Given the description of an element on the screen output the (x, y) to click on. 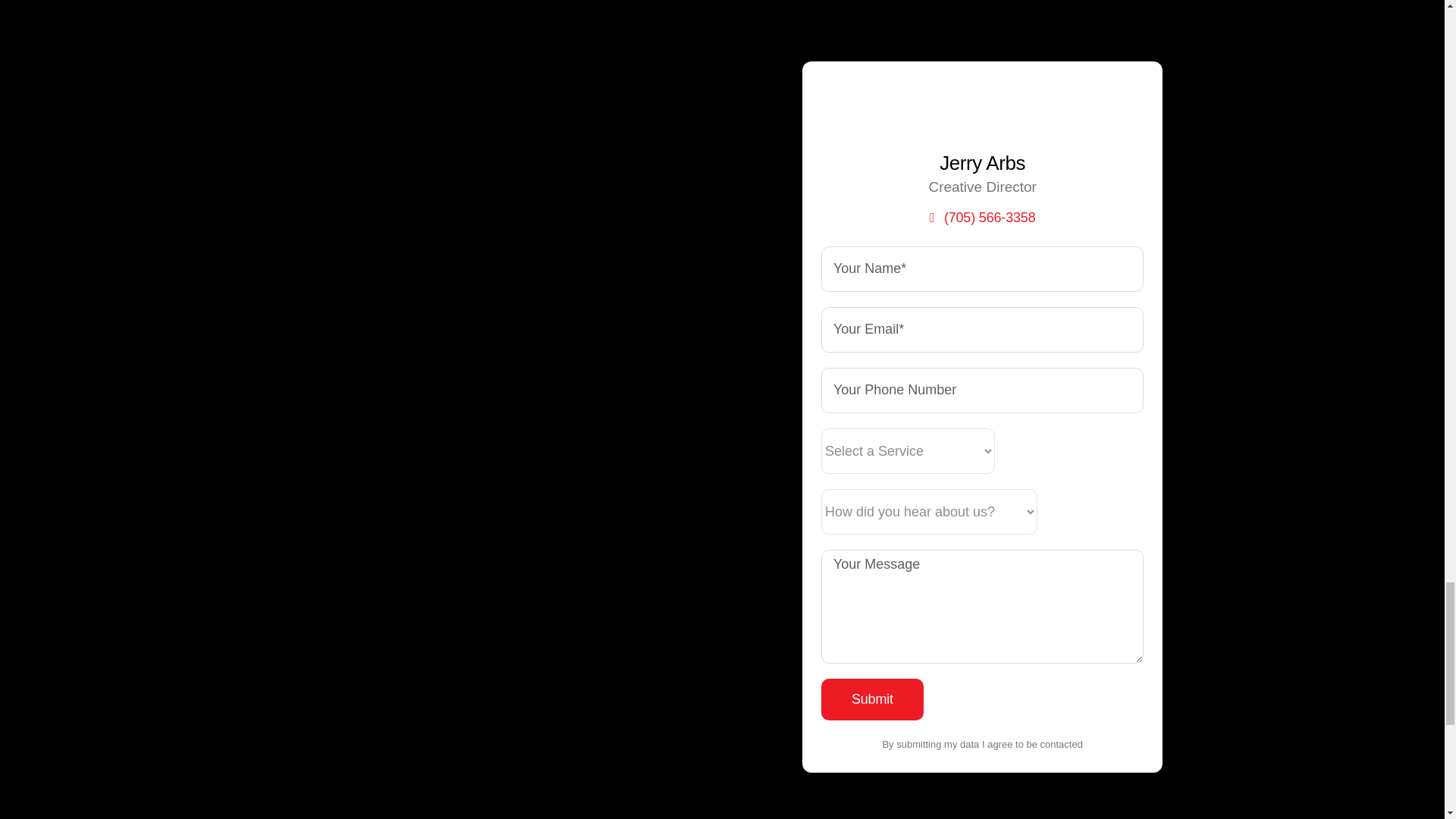
Submit (872, 699)
Submit (872, 699)
Jerry Arbs (982, 109)
